Given the description of an element on the screen output the (x, y) to click on. 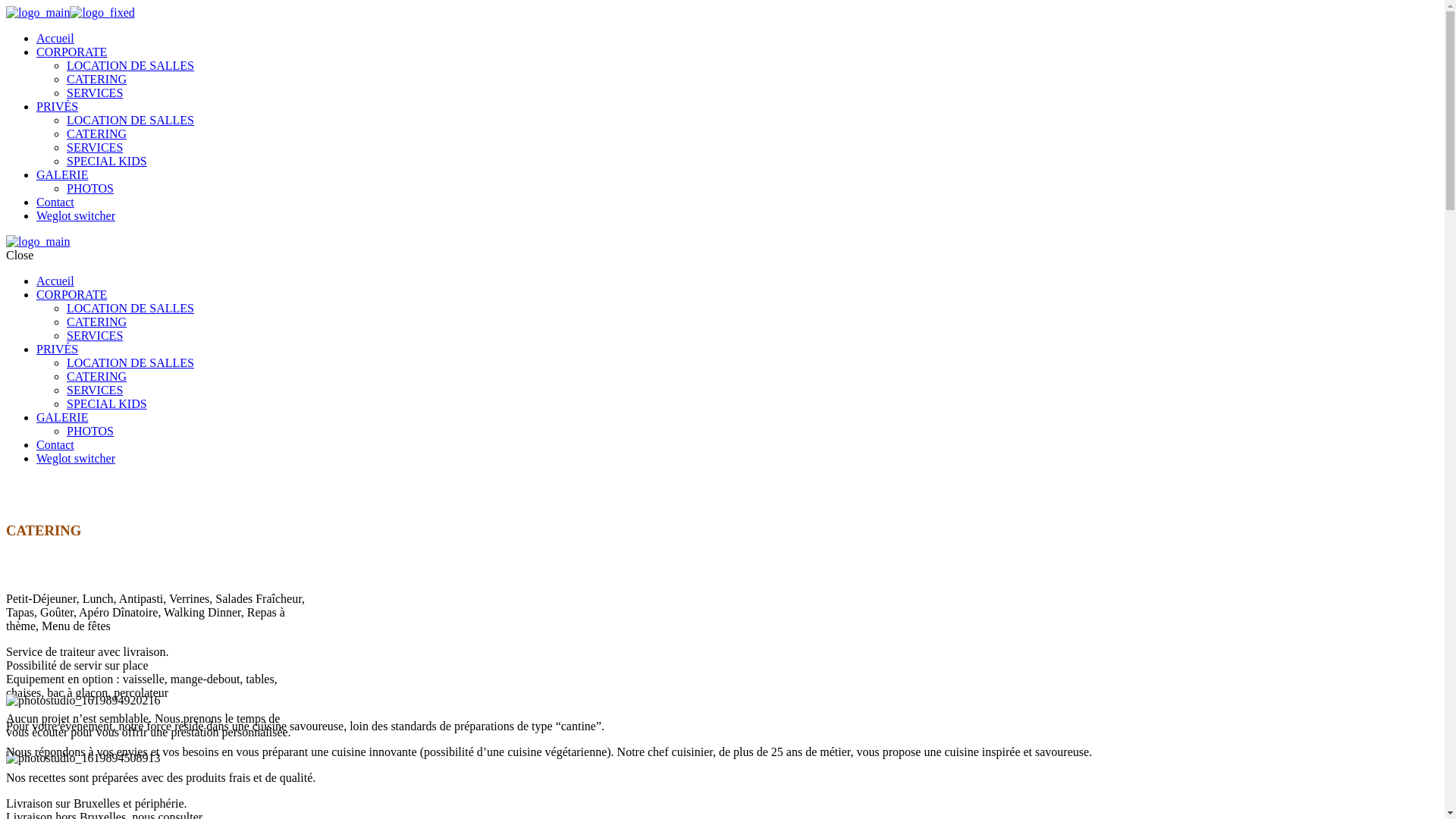
GALERIE Element type: text (61, 174)
photostudio_1619894508913 Element type: hover (83, 758)
LOCATION DE SALLES Element type: text (130, 362)
CATERING Element type: text (96, 321)
GALERIE Element type: text (61, 417)
CATERING Element type: text (96, 133)
Weglot switcher Element type: text (75, 215)
CORPORATE Element type: text (71, 294)
Accueil Element type: text (55, 280)
photostudio_1619894920216 Element type: hover (83, 700)
SERVICES Element type: text (94, 389)
Contact Element type: text (55, 444)
SPECIAL KIDS Element type: text (106, 160)
LOCATION DE SALLES Element type: text (130, 65)
CATERING Element type: text (96, 78)
SERVICES Element type: text (94, 147)
CORPORATE Element type: text (71, 51)
LOCATION DE SALLES Element type: text (130, 119)
CATERING Element type: text (96, 376)
SERVICES Element type: text (94, 92)
PHOTOS Element type: text (89, 430)
Contact Element type: text (55, 201)
PHOTOS Element type: text (89, 188)
Weglot switcher Element type: text (75, 457)
SPECIAL KIDS Element type: text (106, 403)
LOCATION DE SALLES Element type: text (130, 307)
Accueil Element type: text (55, 37)
SERVICES Element type: text (94, 335)
